Given the description of an element on the screen output the (x, y) to click on. 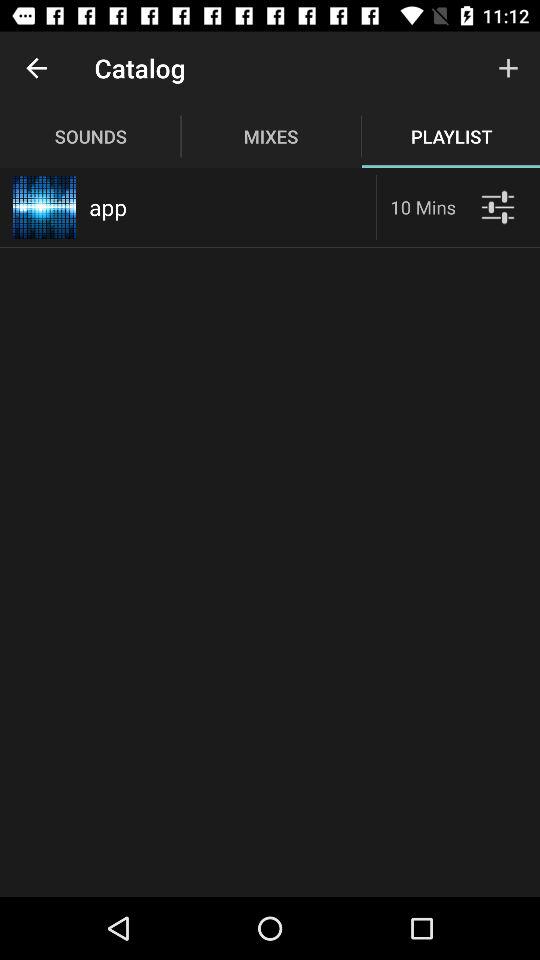
tap the item next to mixes item (508, 67)
